Given the description of an element on the screen output the (x, y) to click on. 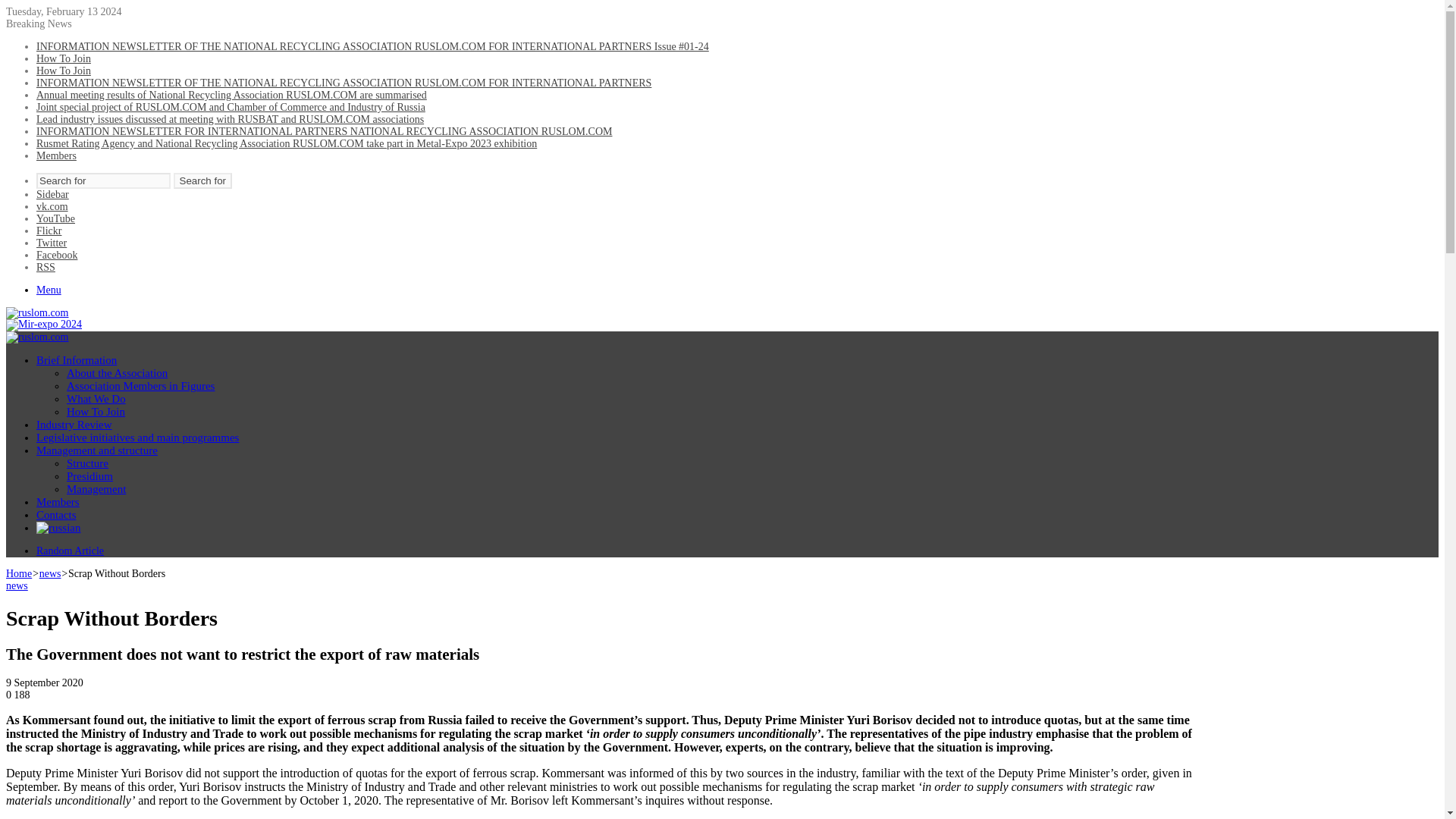
Home (18, 573)
Industry Review (74, 424)
Random Article (69, 550)
Twitter (51, 242)
Contacts (56, 514)
RSS (45, 266)
Brief Information (76, 359)
ruslom.com (36, 312)
Presidium (89, 476)
YouTube (55, 218)
Management (95, 489)
news (50, 573)
Sidebar (52, 194)
